Given the description of an element on the screen output the (x, y) to click on. 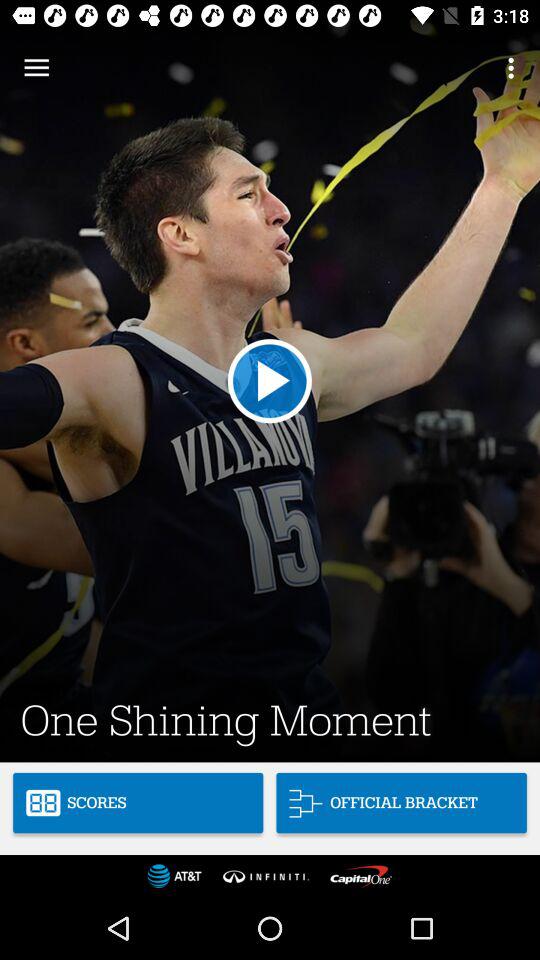
choose the official bracket (401, 802)
